Given the description of an element on the screen output the (x, y) to click on. 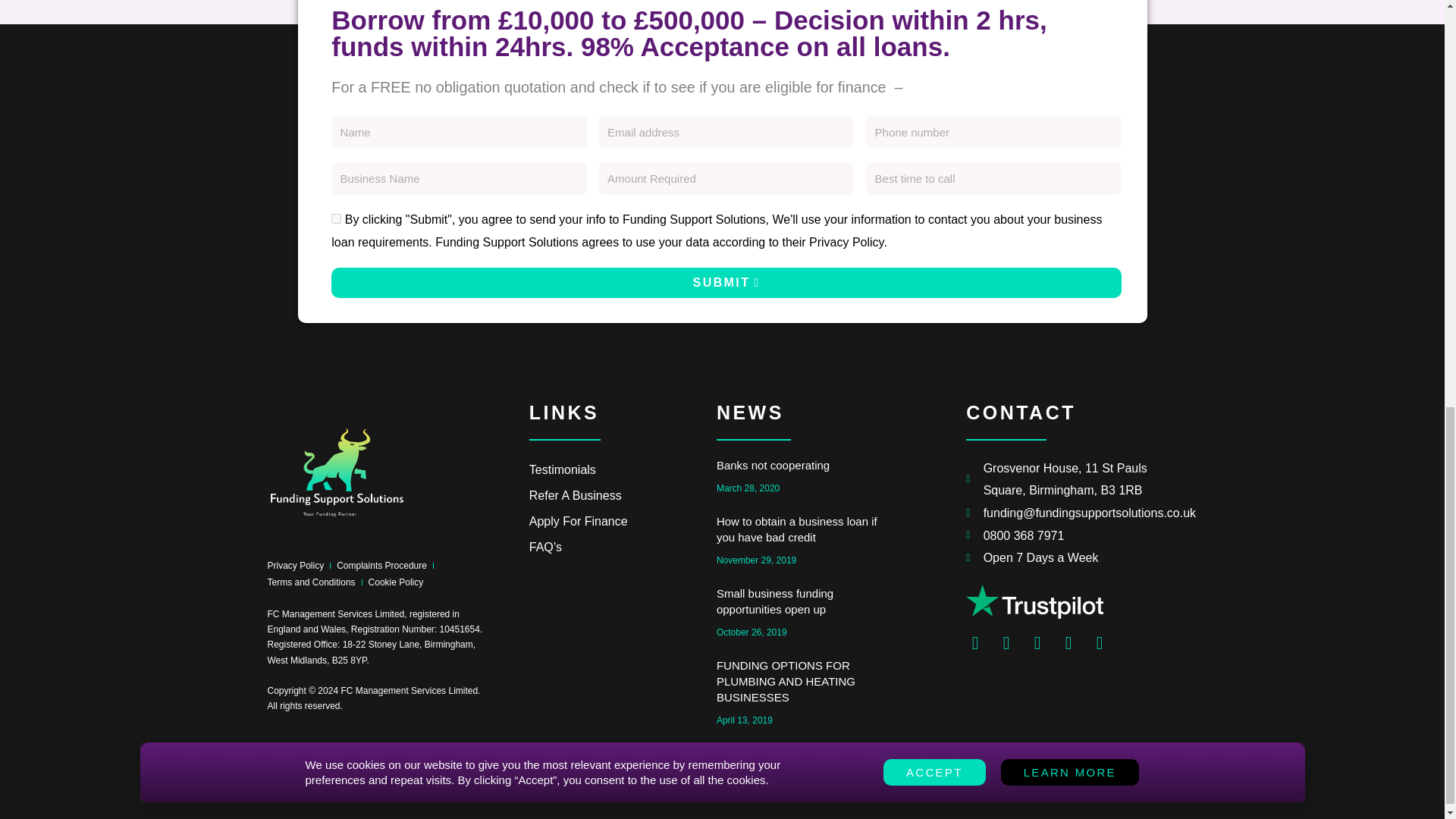
Cookie Policy (395, 582)
How to obtain a business loan if you have bad credit (796, 529)
Complaints Procedure (381, 565)
Grosvenor House, 11 St Pauls Square, Birmingham, B3 1RB (1071, 478)
Testimonials (622, 469)
Refer A Business (622, 494)
FUNDING OPTIONS FOR PLUMBING AND HEATING BUSINESSES (786, 681)
Small business funding opportunities open up (774, 601)
Banks not cooperating (772, 463)
0800 368 7971 (1071, 535)
